Given the description of an element on the screen output the (x, y) to click on. 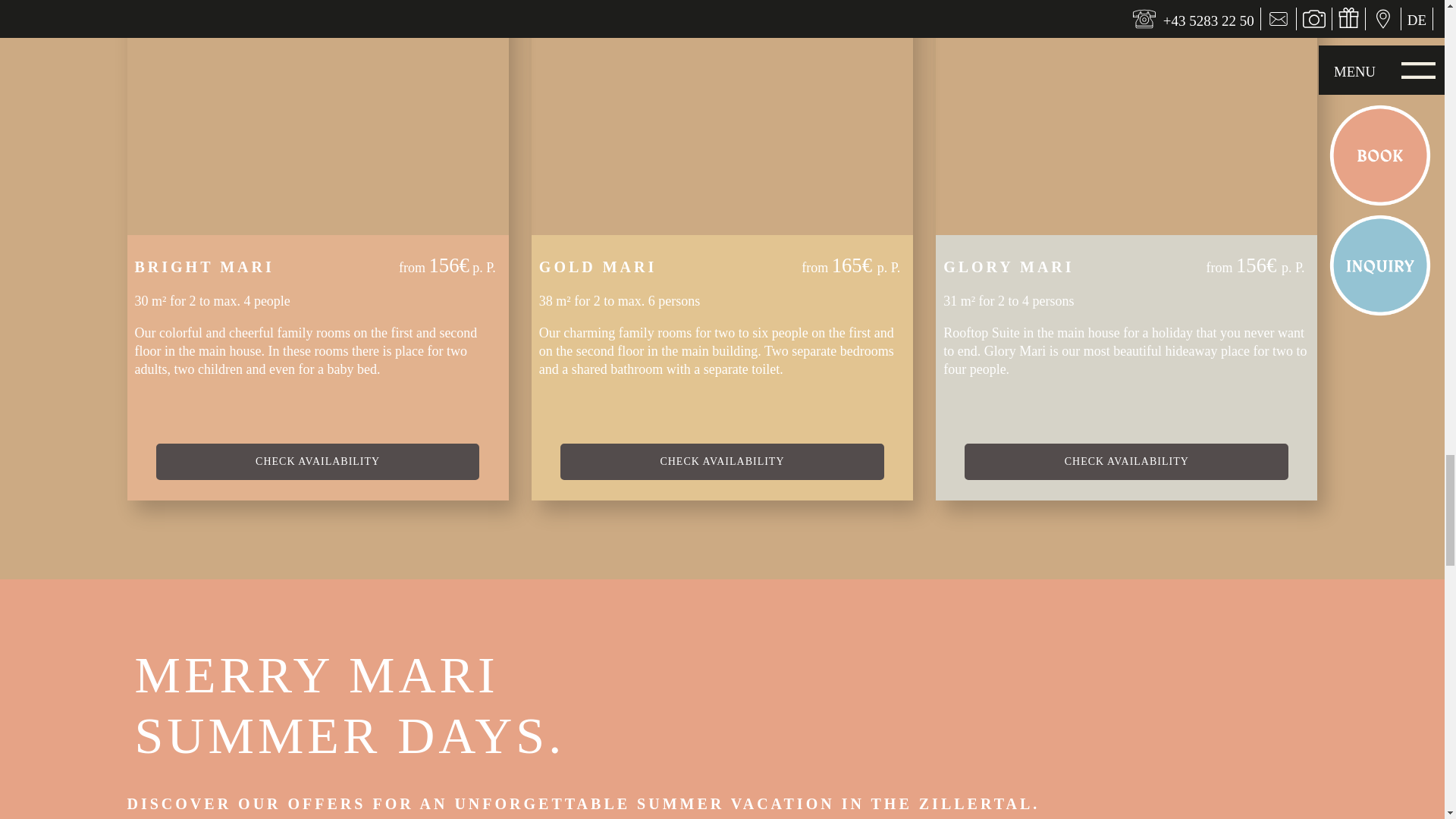
Gold Mari (721, 461)
Glory Mari (1125, 461)
Bright Mari (317, 461)
Bright Mari room (318, 117)
Gold Mari (721, 117)
Glory Mari (1126, 117)
